Given the description of an element on the screen output the (x, y) to click on. 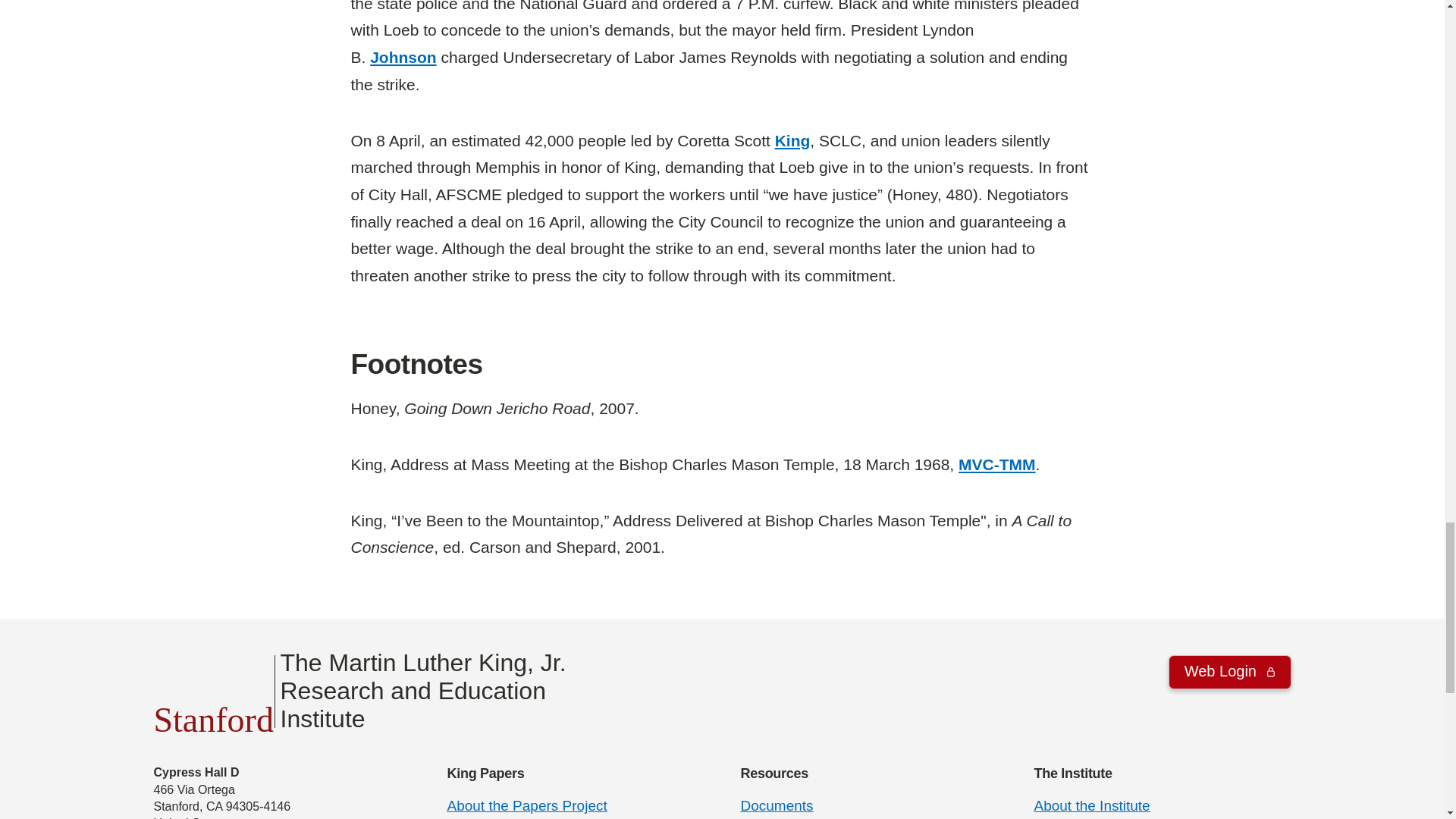
Martin Luther King, Jr. Papers Project (526, 805)
Johnson, Lyndon Baines (402, 57)
Documents (775, 805)
King, Coretta Scott (792, 140)
Abbreviations (996, 464)
